Given the description of an element on the screen output the (x, y) to click on. 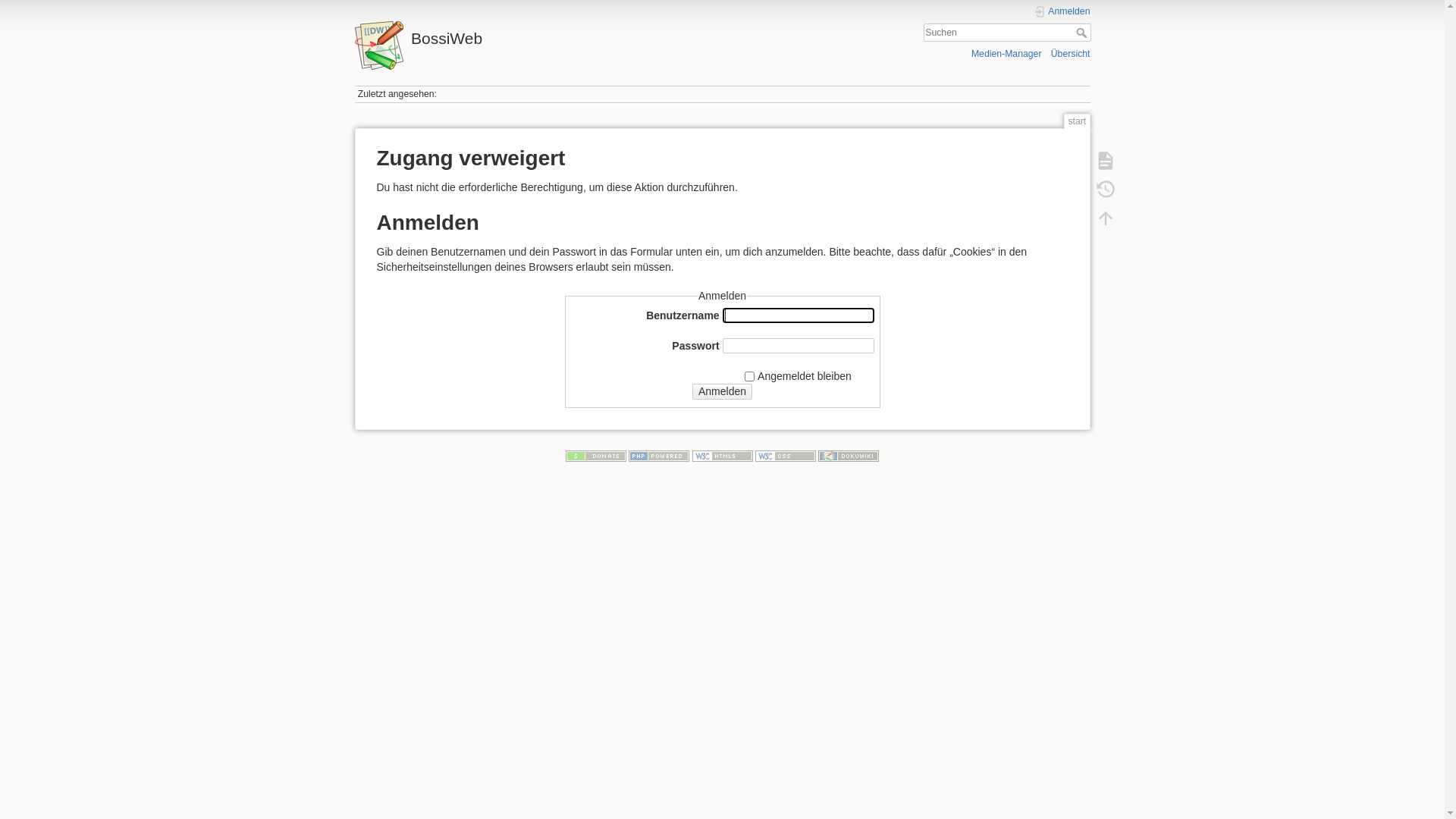
Valid HTML5 Element type: hover (721, 455)
Anmelden Element type: text (722, 391)
Anmelden Element type: text (1061, 11)
Donate Element type: hover (595, 455)
Medien-Manager Element type: text (1006, 53)
Seite anzeigen [v] Element type: hover (1104, 160)
Nach oben [t] Element type: hover (1104, 217)
Valid CSS Element type: hover (785, 455)
Powered by PHP Element type: hover (658, 455)
[F] Element type: hover (1007, 32)
Driven by DokuWiki Element type: hover (848, 455)
Suchen Element type: text (1082, 32)
BossiWeb Element type: text (534, 34)
